Given the description of an element on the screen output the (x, y) to click on. 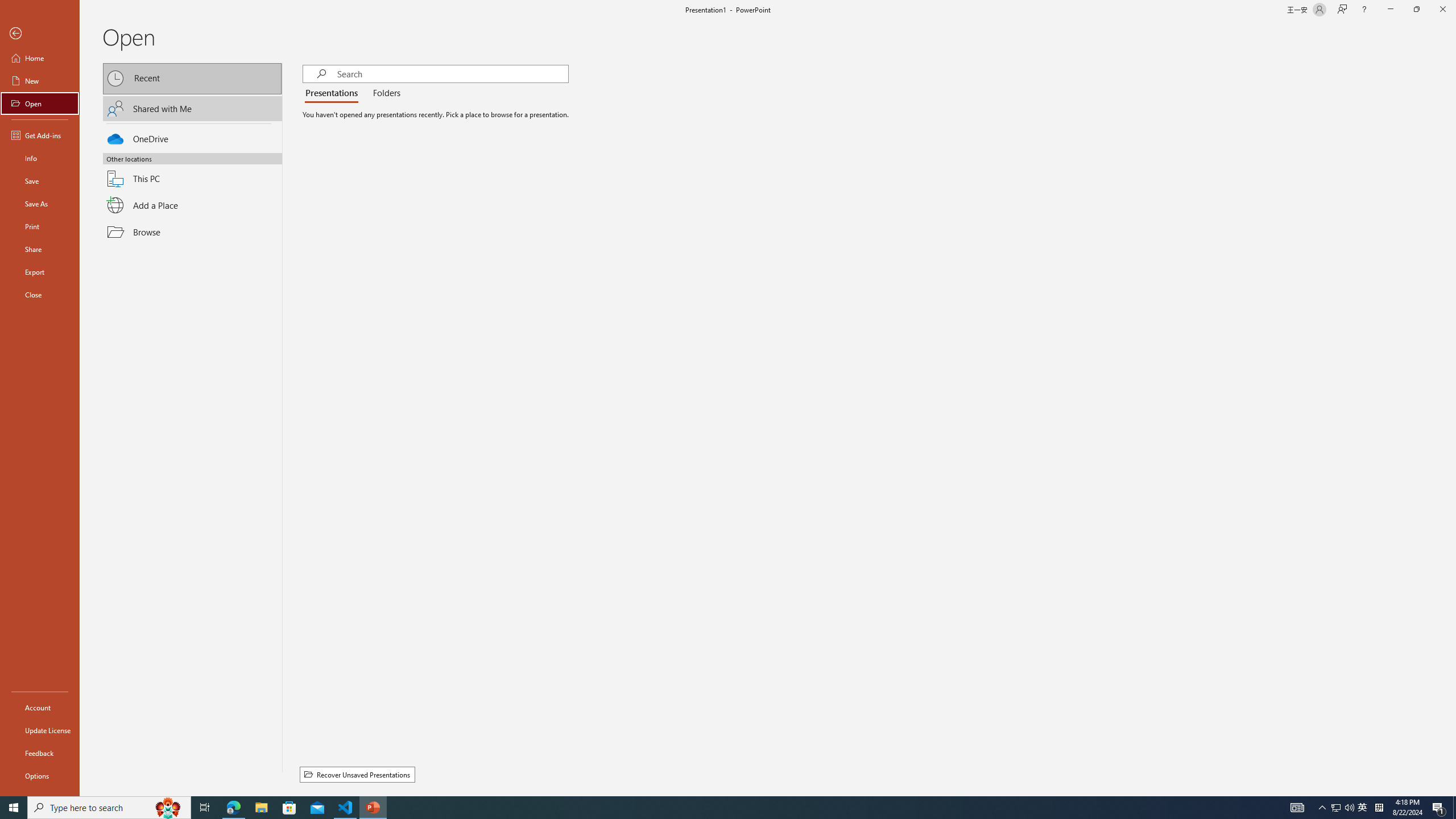
Presentations (333, 93)
Back (40, 33)
New (40, 80)
Print (40, 225)
Save As (40, 203)
Add a Place (192, 204)
